Given the description of an element on the screen output the (x, y) to click on. 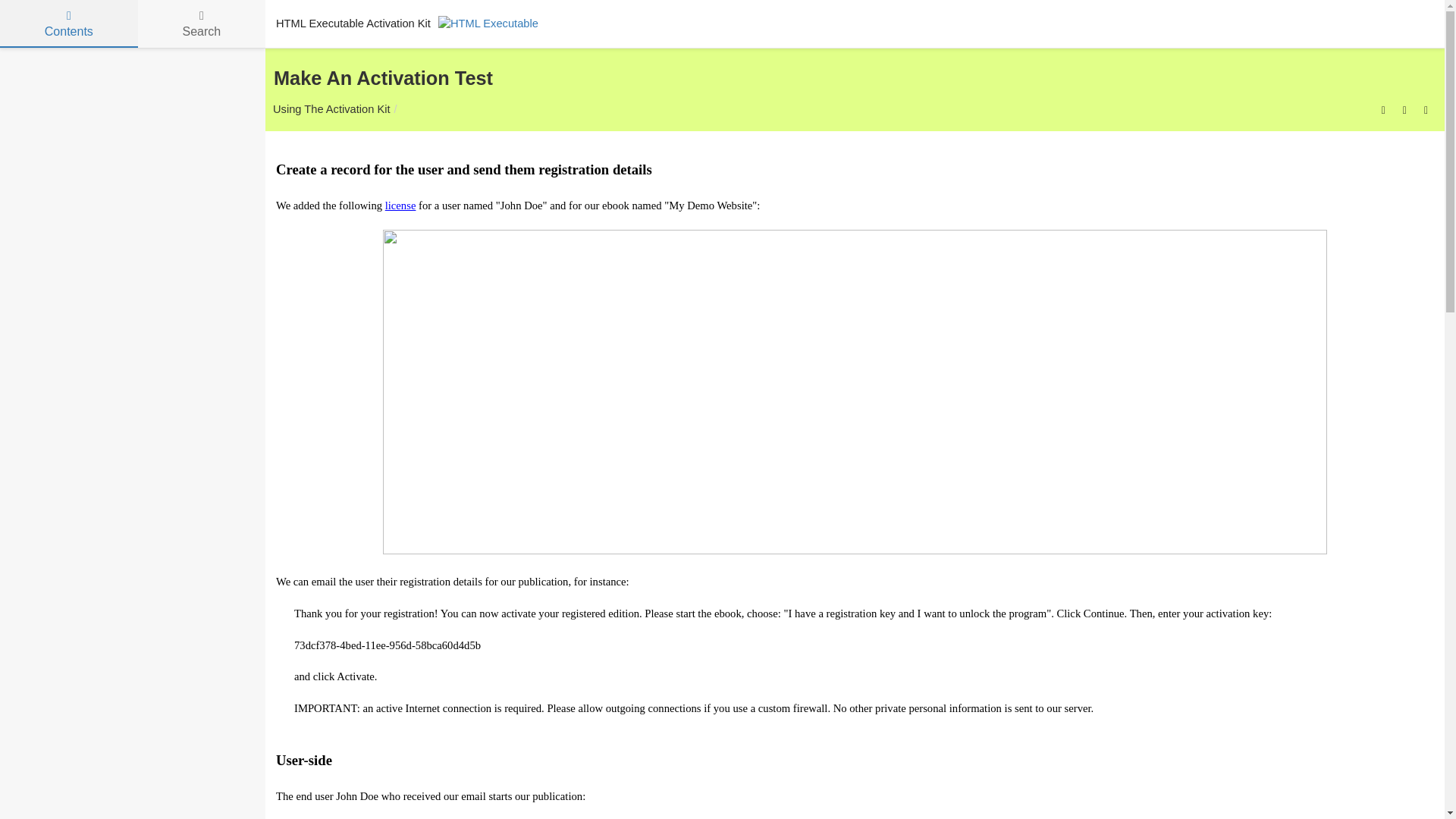
In this page... (1383, 109)
license (400, 205)
Search (201, 23)
Contents (69, 23)
Selling Ebooks And Publications With PayPal (1426, 109)
Add Licenses (1404, 109)
